Given the description of an element on the screen output the (x, y) to click on. 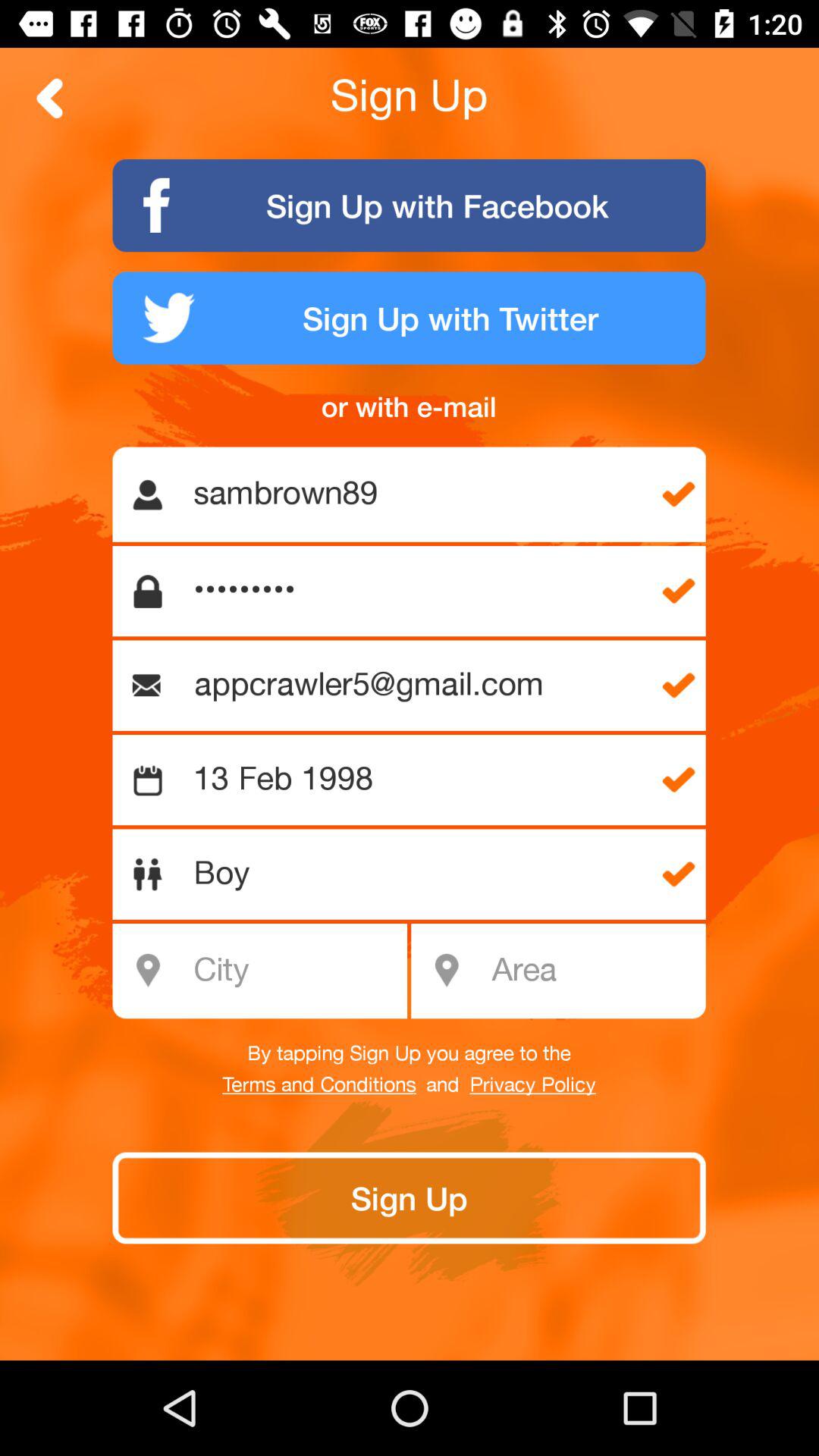
open the icon next to and icon (532, 1085)
